Given the description of an element on the screen output the (x, y) to click on. 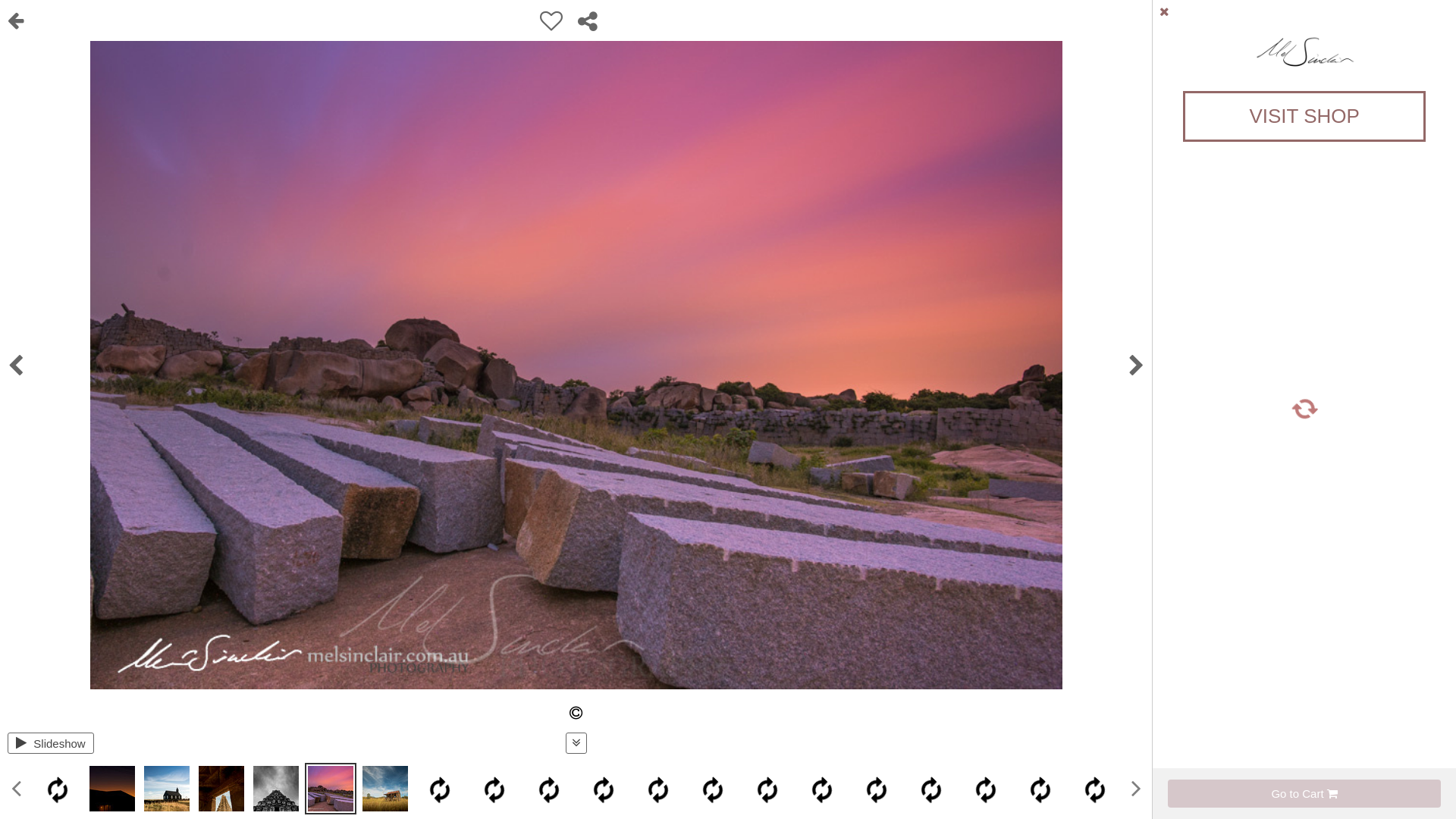
Close Element type: hover (1164, 11)
Hide Element type: text (1430, 11)
Go to Cart Element type: text (1303, 793)
